Given the description of an element on the screen output the (x, y) to click on. 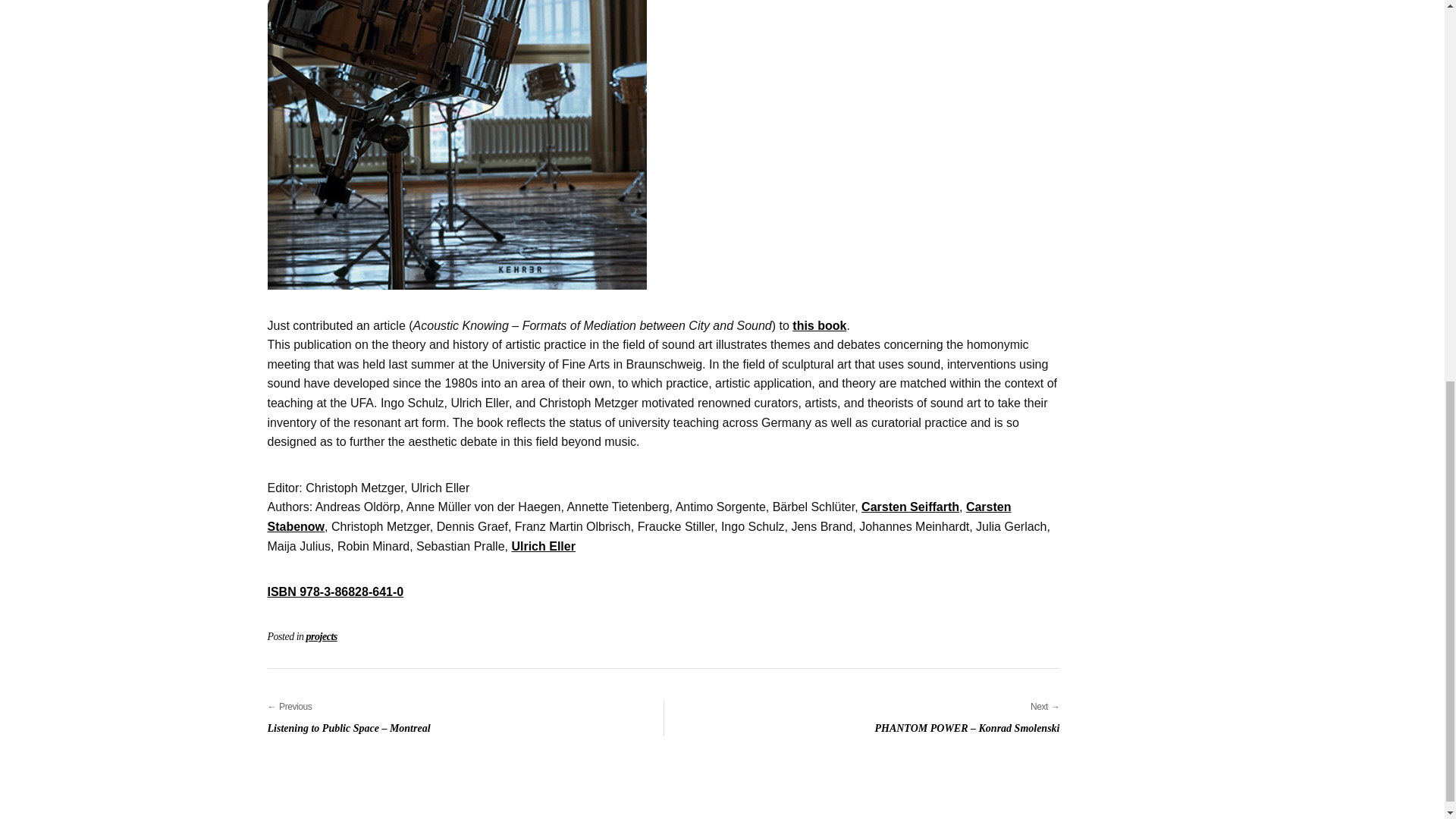
640-9783868286410 (456, 144)
the statement (818, 325)
the statement (334, 591)
